Given the description of an element on the screen output the (x, y) to click on. 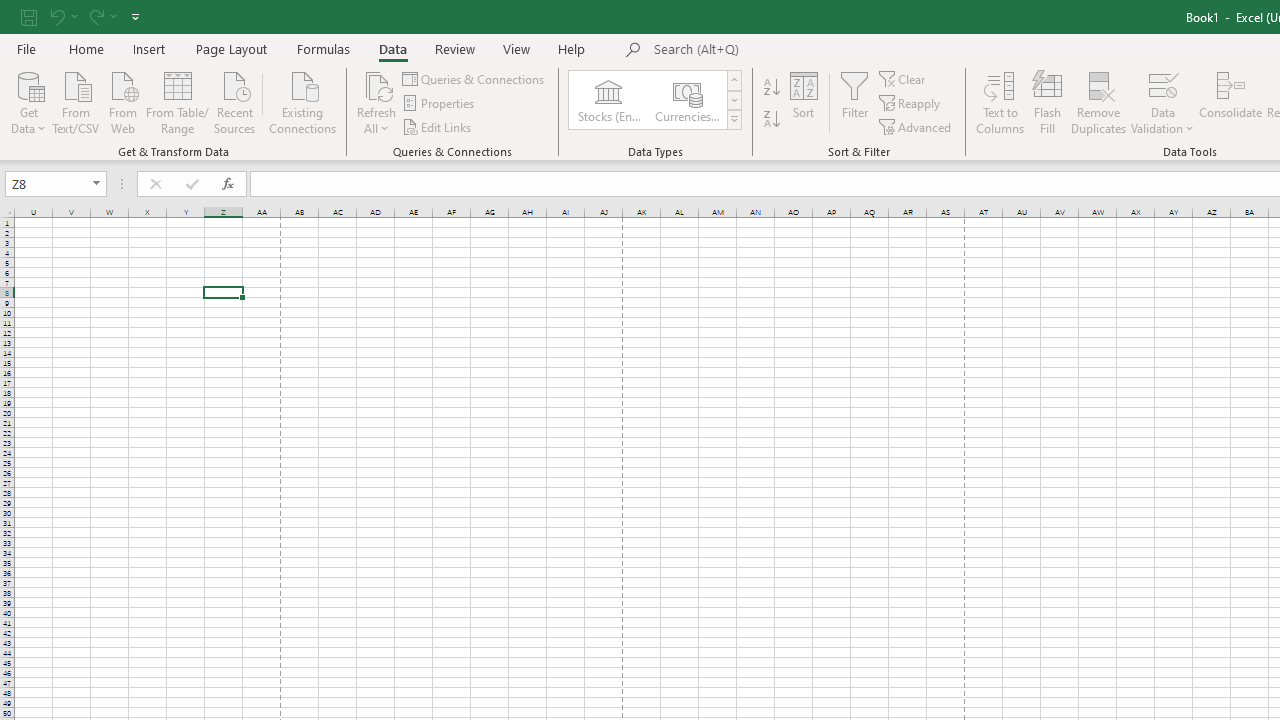
Queries & Connections (474, 78)
Sort A to Z (772, 87)
Recent Sources (235, 101)
Existing Connections (303, 101)
Get Data (28, 101)
From Web (122, 101)
Advanced... (916, 126)
Sort... (804, 102)
Filter (854, 102)
Currencies (English) (686, 100)
Consolidate... (1230, 102)
